Given the description of an element on the screen output the (x, y) to click on. 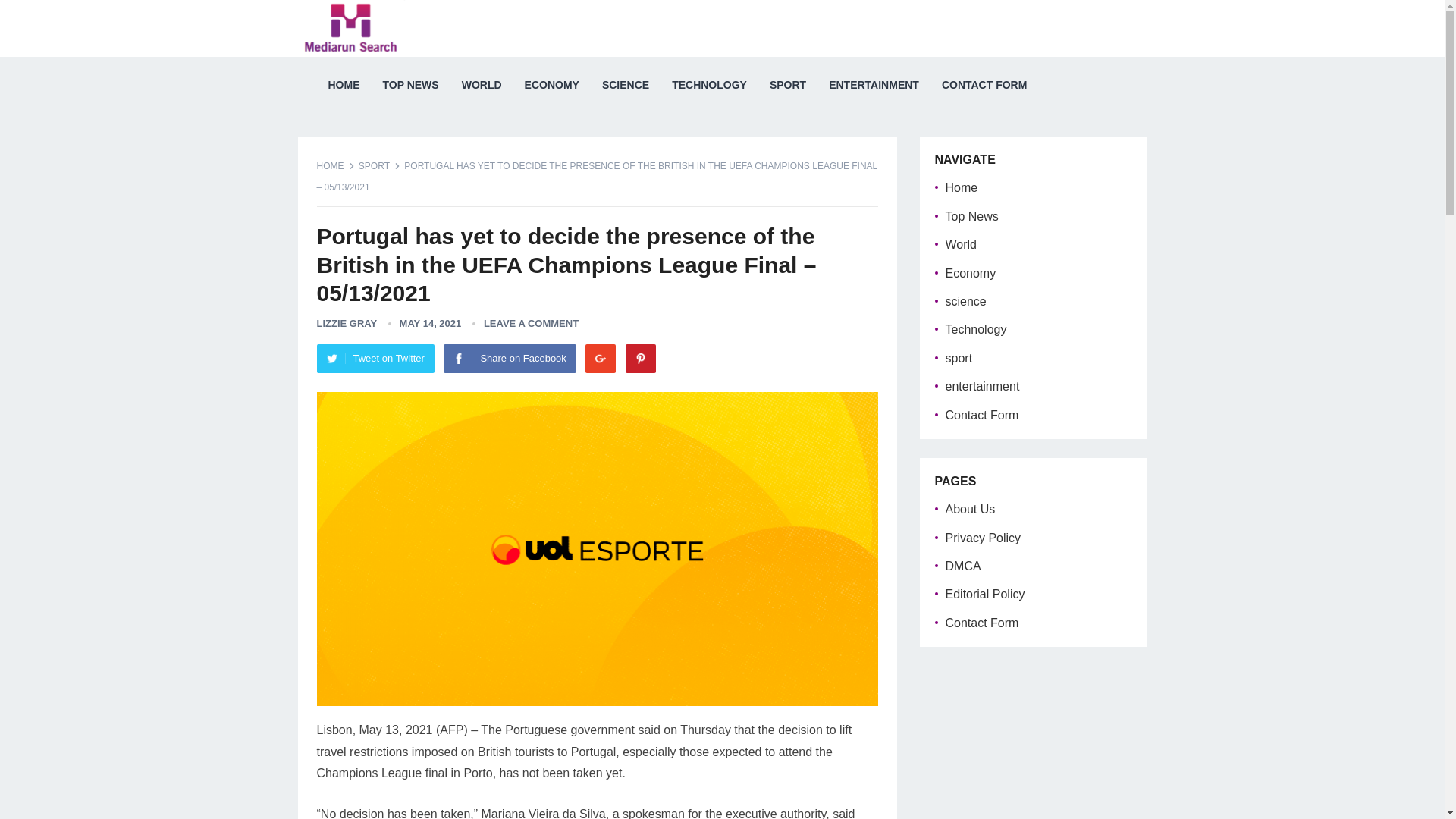
WORLD (481, 84)
Pinterest (641, 358)
HOME (336, 165)
TOP NEWS (410, 84)
SCIENCE (626, 84)
HOME (344, 84)
LEAVE A COMMENT (530, 323)
View all posts in sport (379, 165)
SPORT (379, 165)
Posts by Lizzie Gray (347, 323)
ENTERTAINMENT (873, 84)
Share on Facebook (509, 358)
ECONOMY (552, 84)
CONTACT FORM (984, 84)
TECHNOLOGY (709, 84)
